Given the description of an element on the screen output the (x, y) to click on. 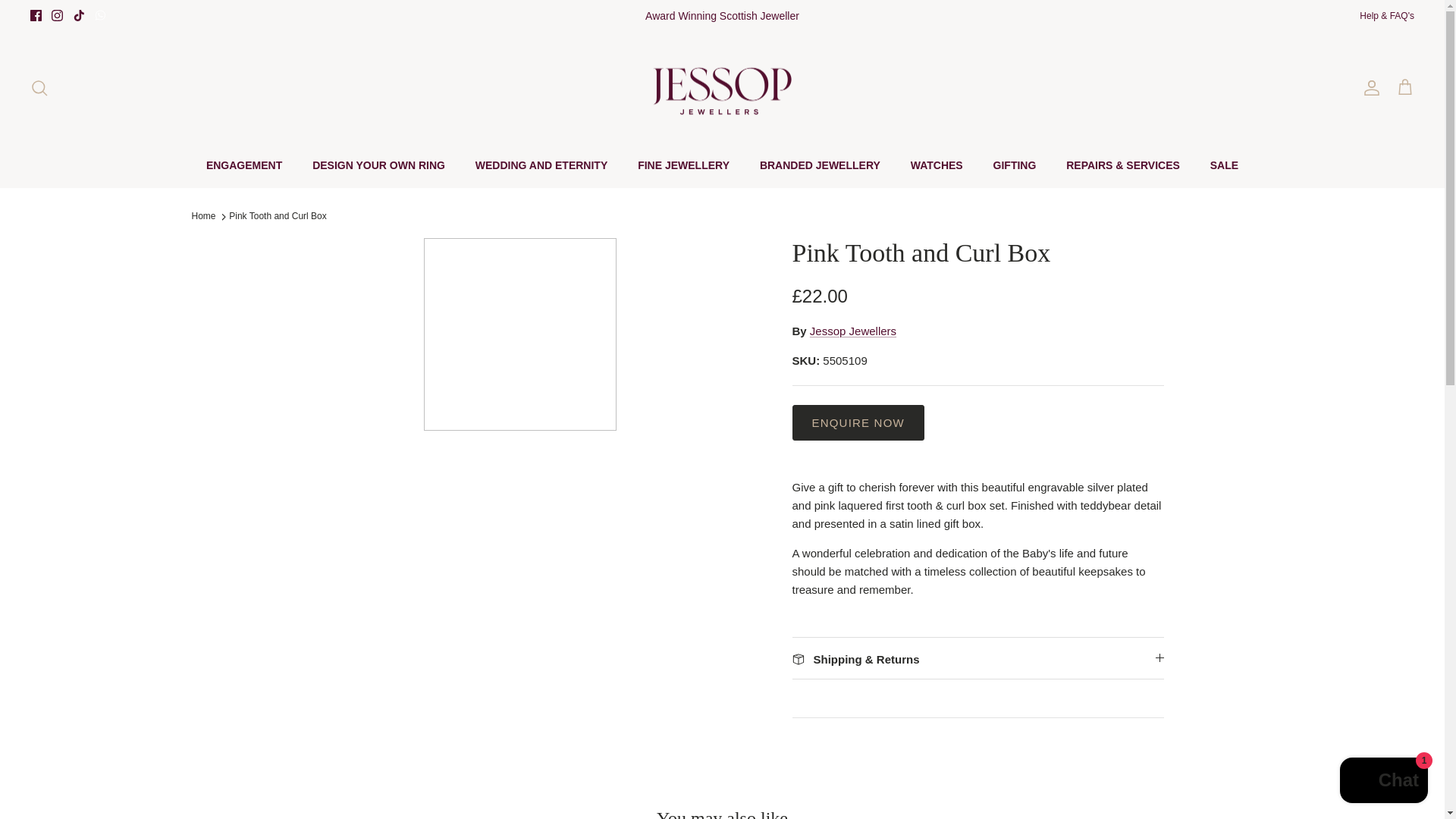
Facebook (36, 15)
ENGAGEMENT (243, 165)
Instagram (56, 15)
Instagram (56, 15)
Search (39, 87)
Jessop Jewellers (721, 87)
Facebook (36, 15)
Account (1368, 87)
Shopify online store chat (1383, 781)
Cart (1404, 87)
